Given the description of an element on the screen output the (x, y) to click on. 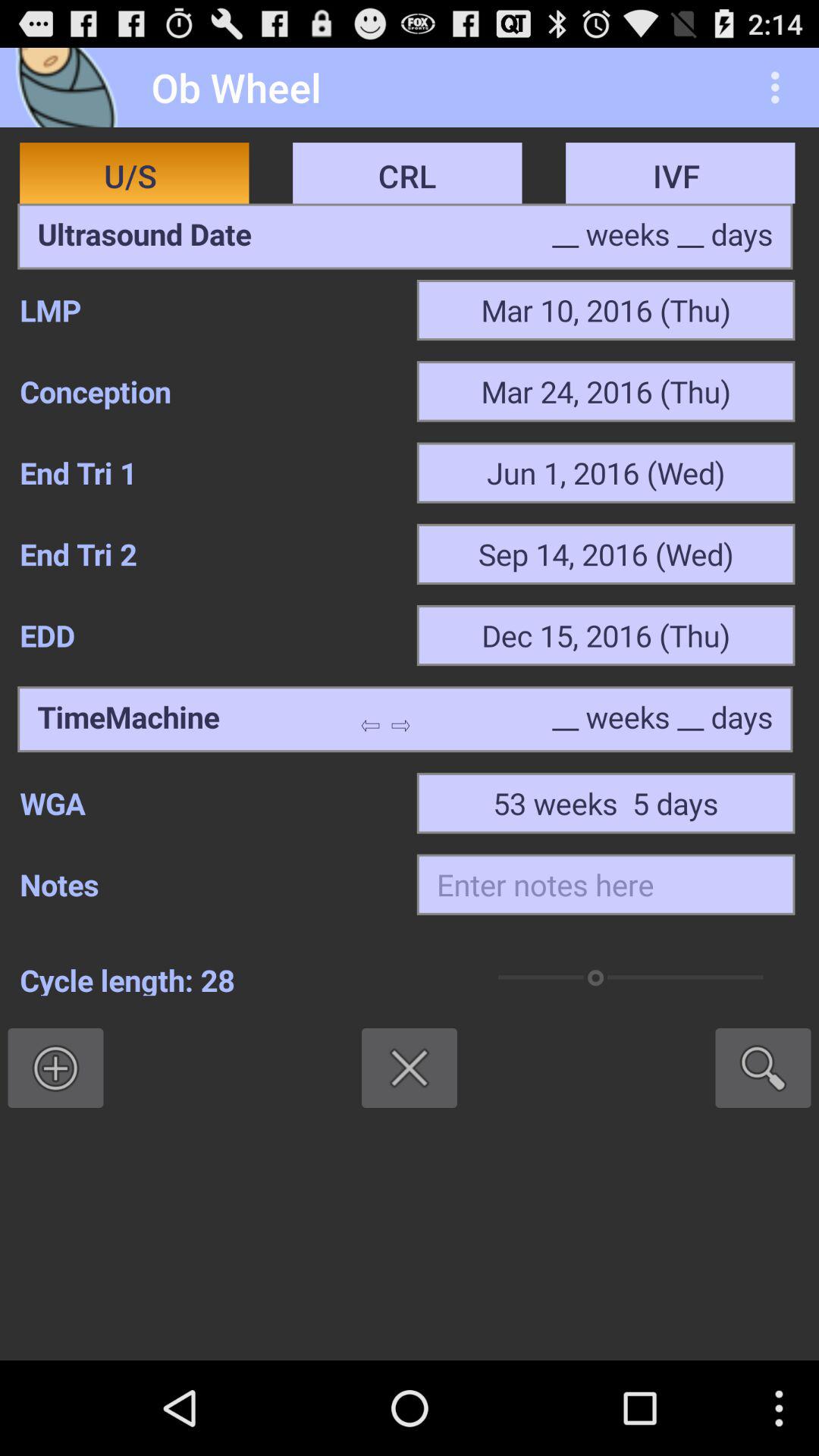
turn off the item next to cycle length: 28 item (763, 1067)
